Given the description of an element on the screen output the (x, y) to click on. 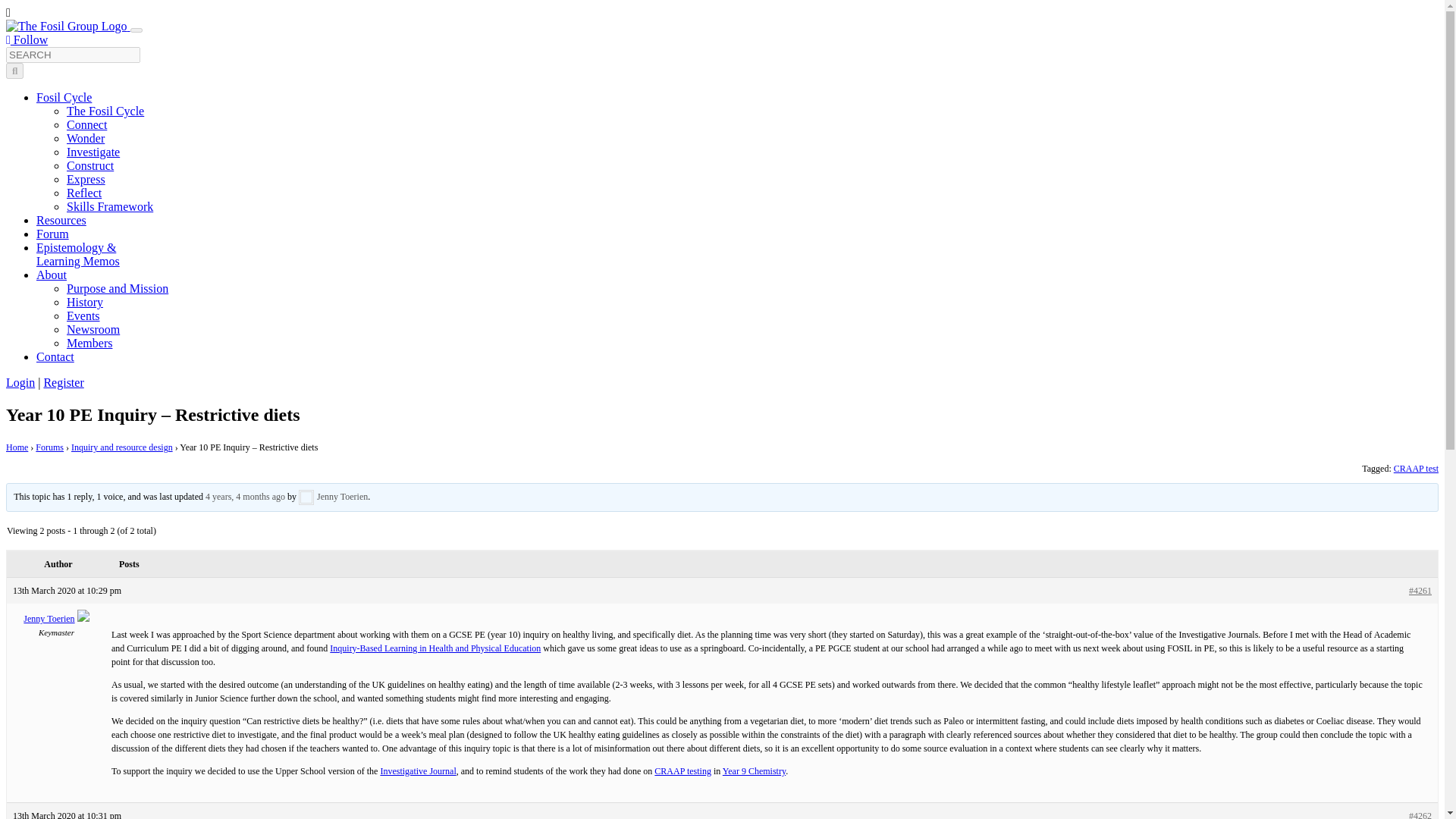
Inquiry-Based Learning in Health and Physical Education (435, 647)
Fosil Cycle (63, 97)
Skills Framework (109, 205)
CRAAP testing (682, 770)
Connect (86, 124)
Investigate (92, 151)
The Fosil Cycle (105, 110)
Express (85, 178)
Wonder (85, 137)
Follow (26, 39)
Resources (60, 219)
History (84, 301)
Home (16, 447)
Investigative Journal (417, 770)
About (51, 274)
